Given the description of an element on the screen output the (x, y) to click on. 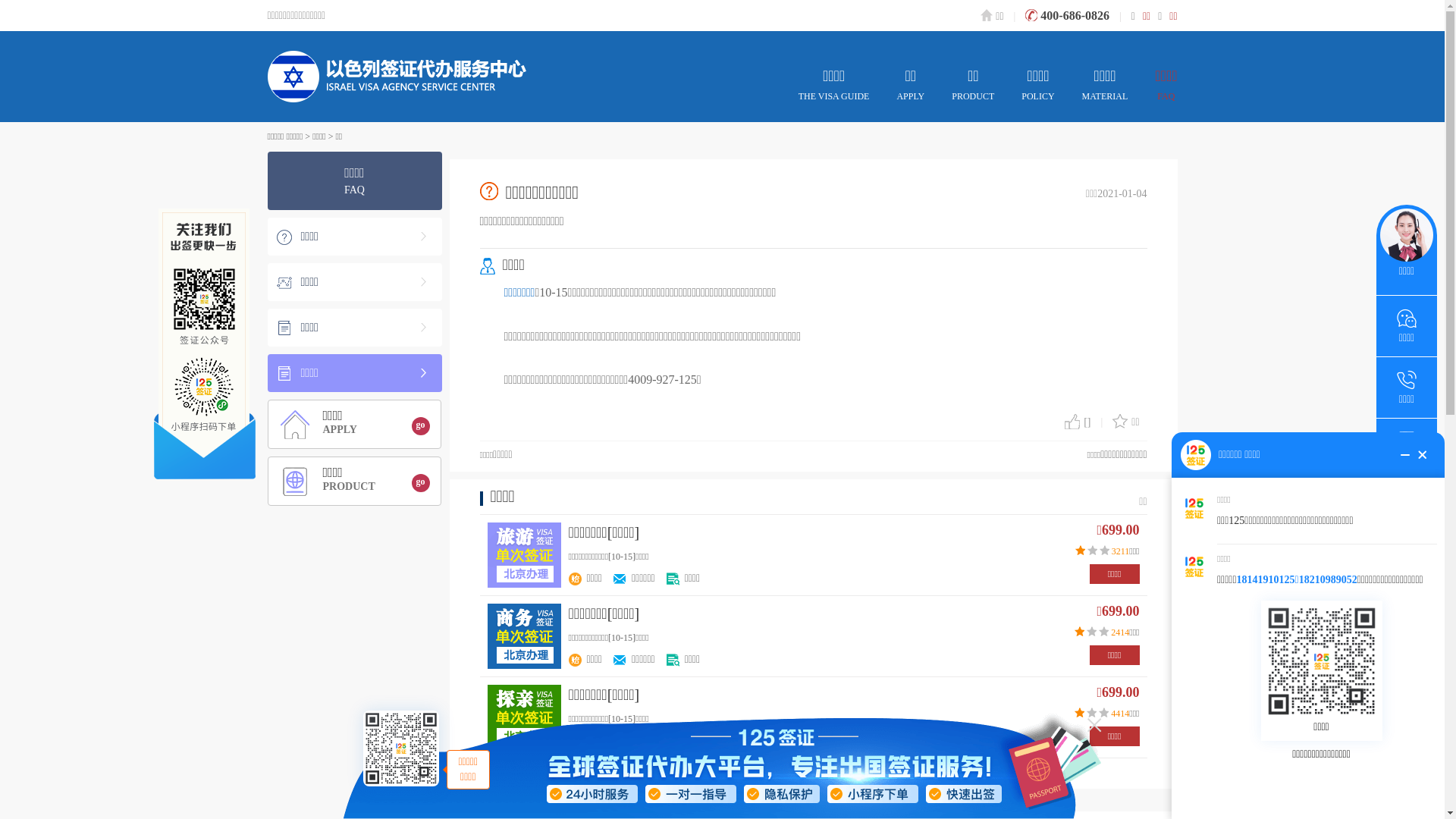
[] Element type: text (1077, 421)
